Given the description of an element on the screen output the (x, y) to click on. 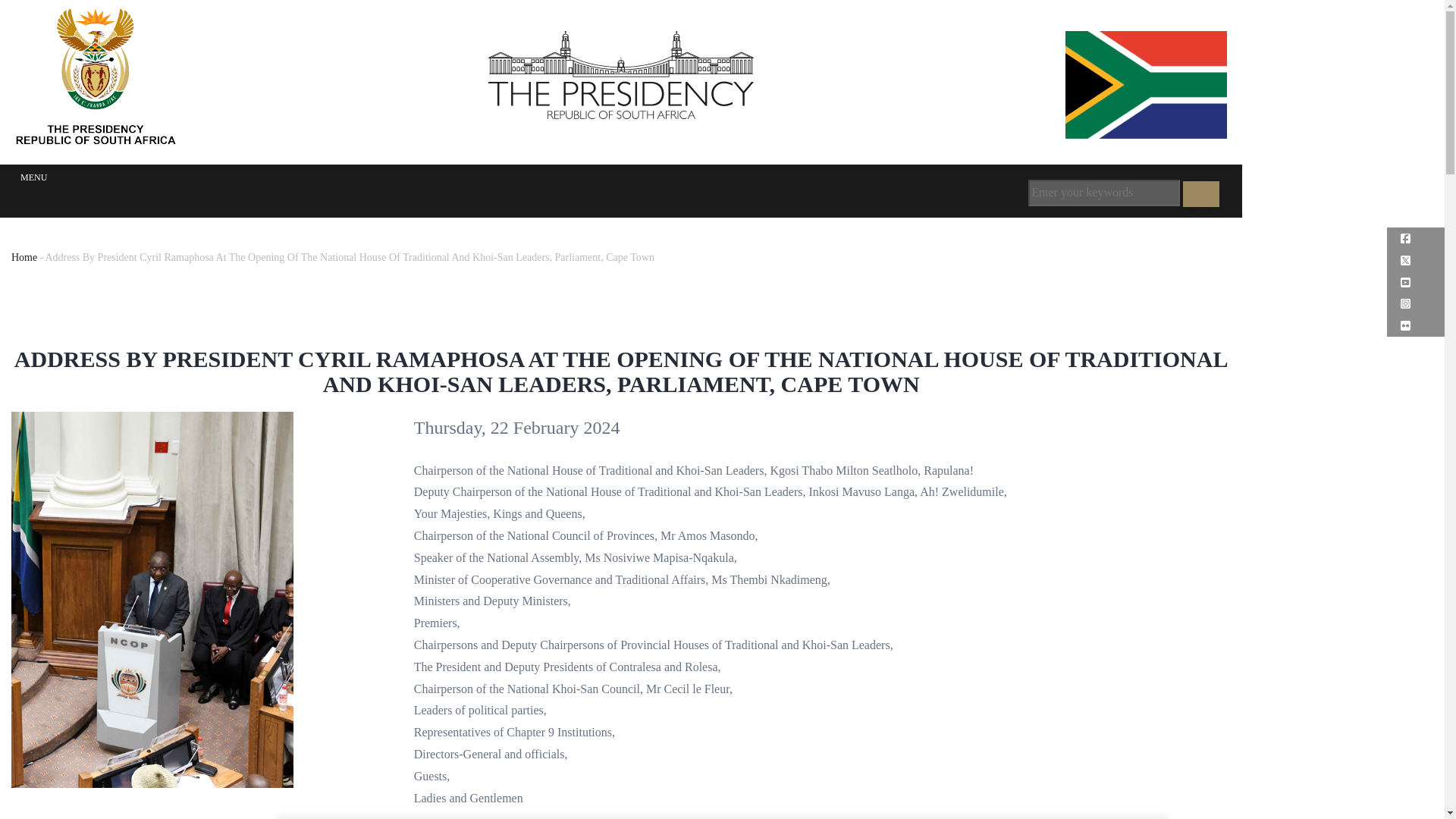
Enter the terms you wish to search for. (1103, 192)
Home (24, 256)
MENU (33, 178)
